Given the description of an element on the screen output the (x, y) to click on. 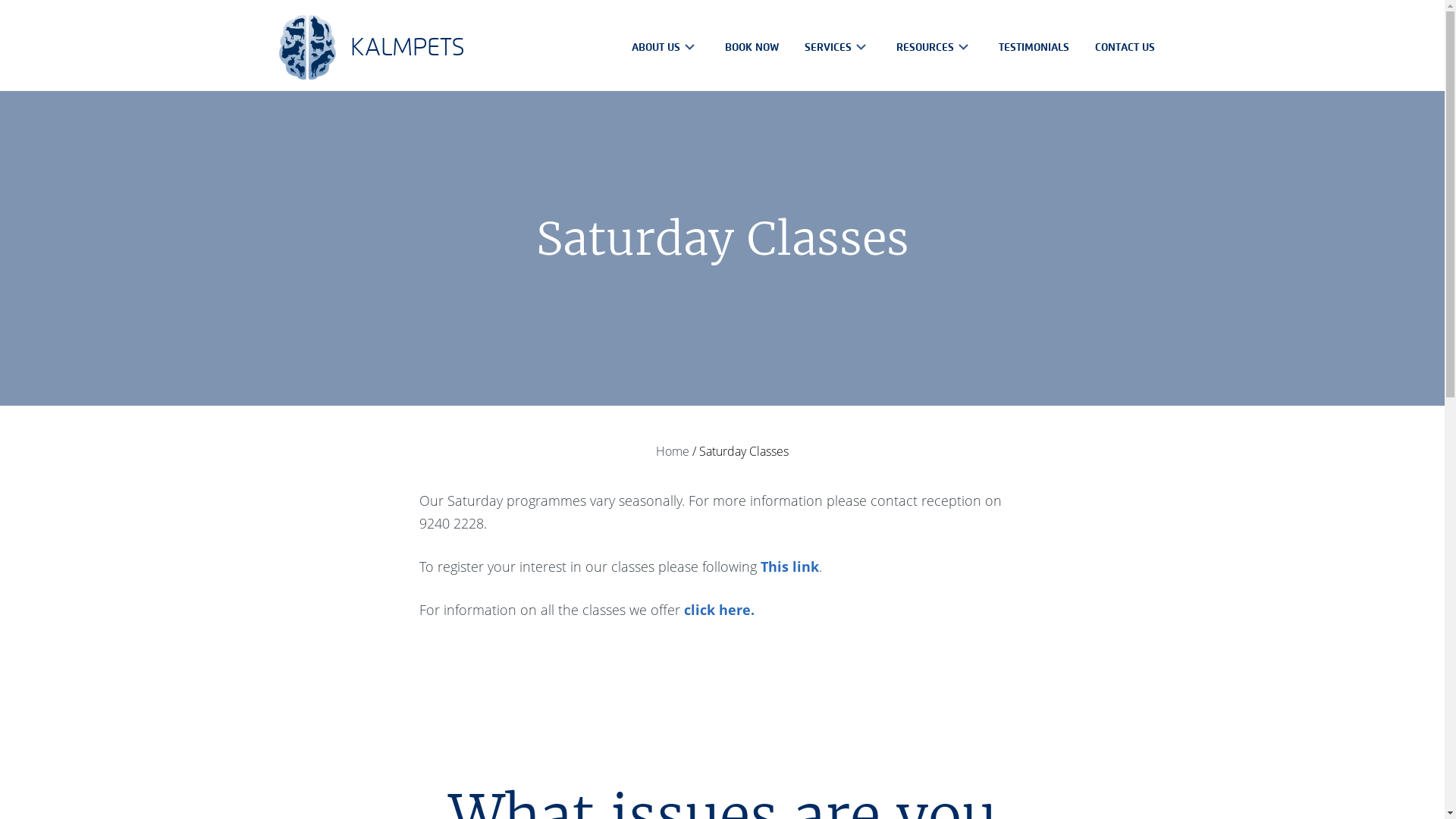
TESTIMONIALS Element type: text (1032, 46)
BOOK NOW Element type: text (751, 46)
SERVICES Element type: text (836, 46)
ABOUT US Element type: text (664, 46)
click here. Element type: text (719, 609)
KALMPETS Element type: text (371, 47)
CONTACT US Element type: text (1124, 46)
Home Element type: text (672, 450)
RESOURCES Element type: text (934, 46)
This link Element type: text (788, 566)
